Given the description of an element on the screen output the (x, y) to click on. 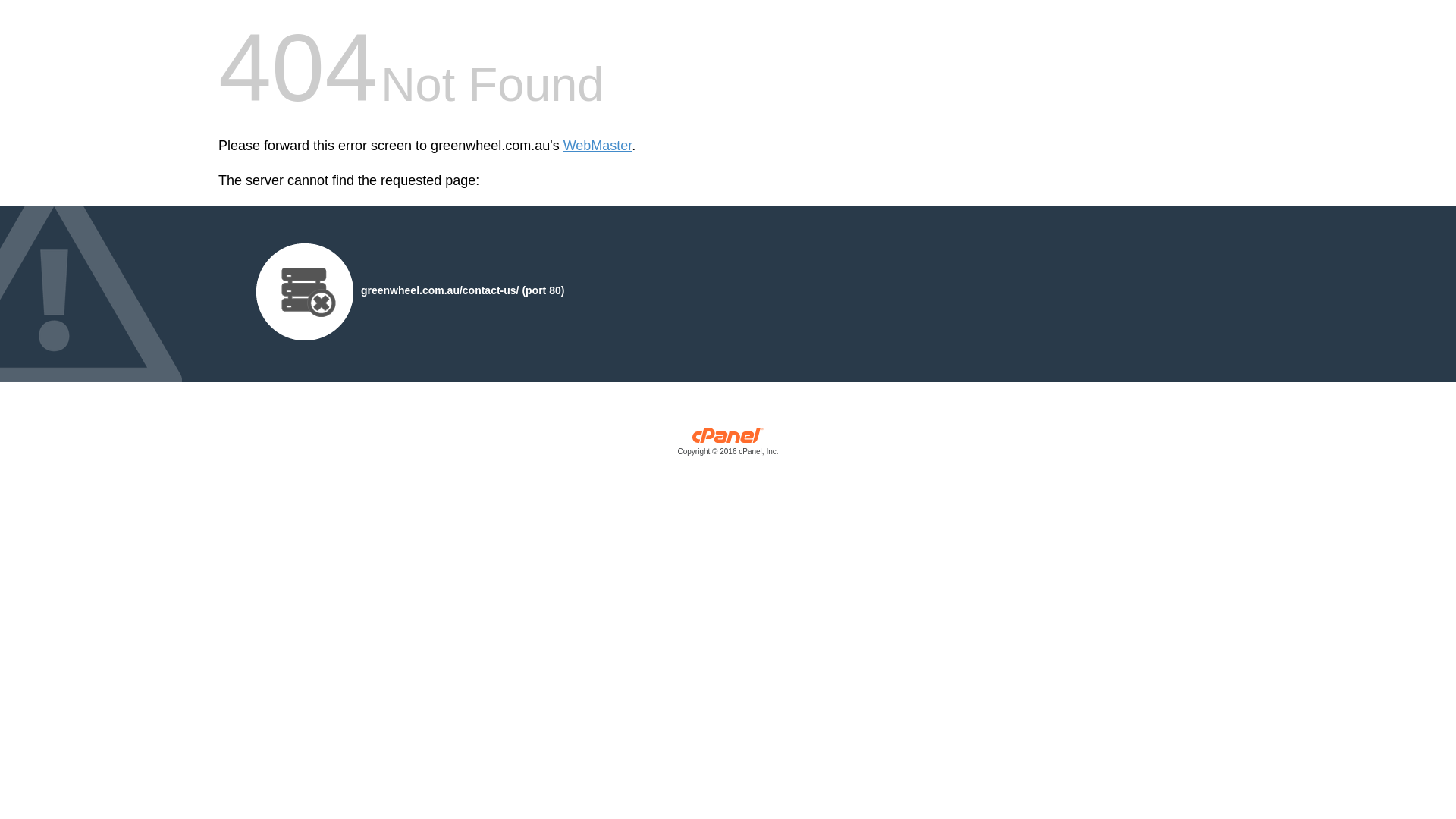
WebMaster Element type: text (597, 145)
